Given the description of an element on the screen output the (x, y) to click on. 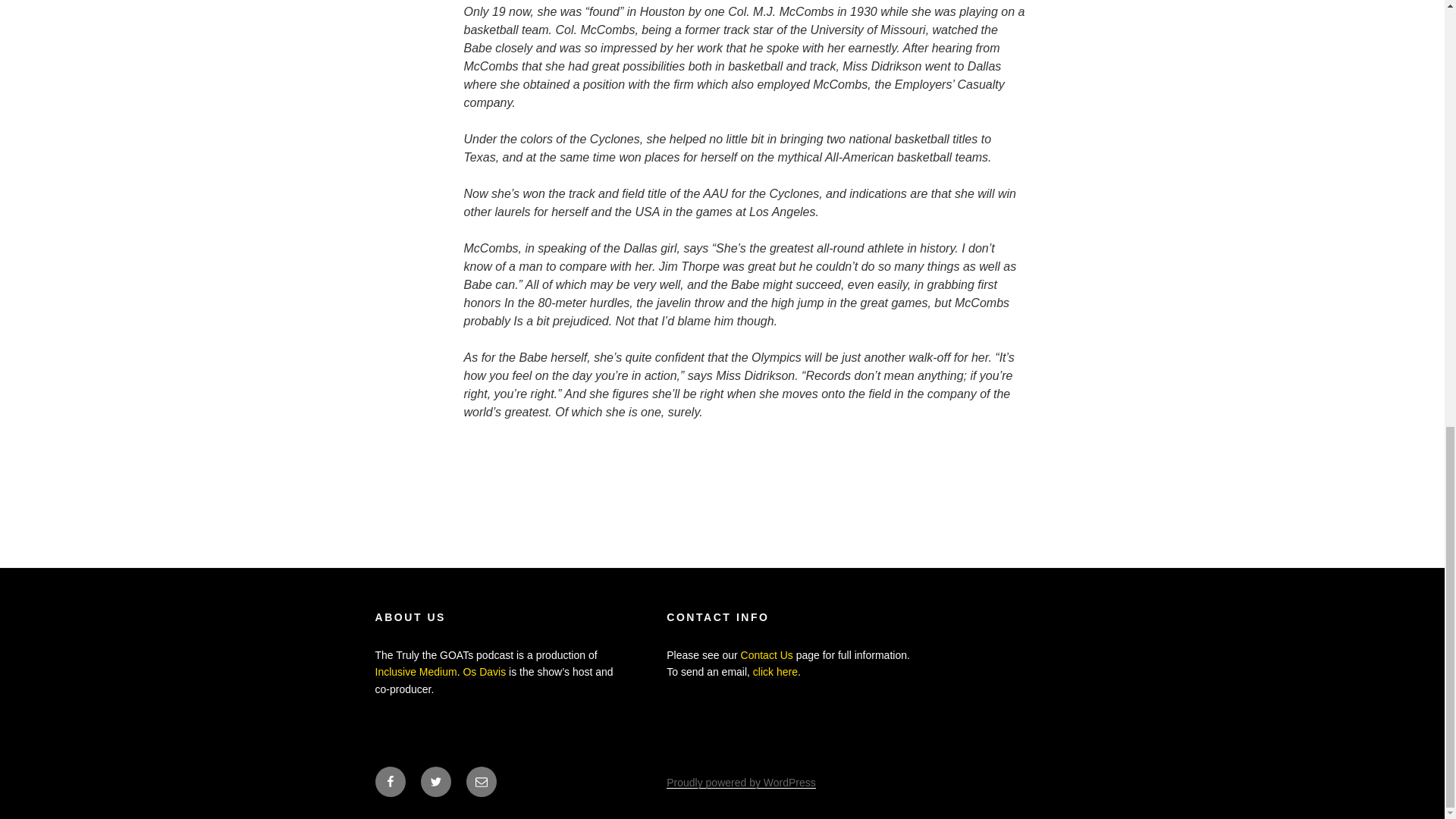
Contact Us (767, 654)
Os Davis (484, 671)
click here (774, 671)
Proudly powered by WordPress (740, 782)
Twitter (435, 781)
Email (480, 781)
Inclusive Medium (415, 671)
Facebook (389, 781)
